Given the description of an element on the screen output the (x, y) to click on. 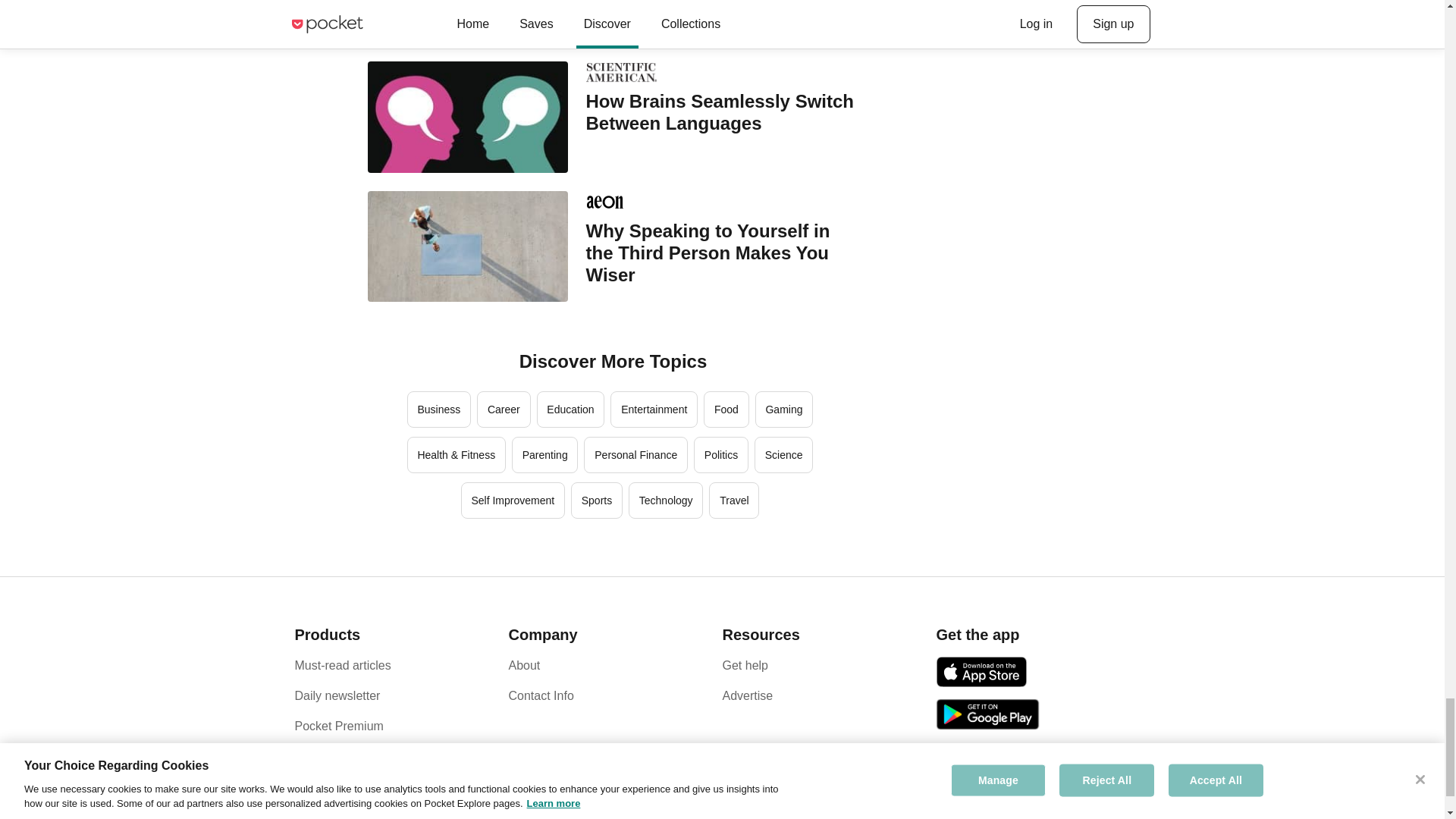
Can Lucid Dreaming Help Us Understand Consciousness? (722, 2)
